Given the description of an element on the screen output the (x, y) to click on. 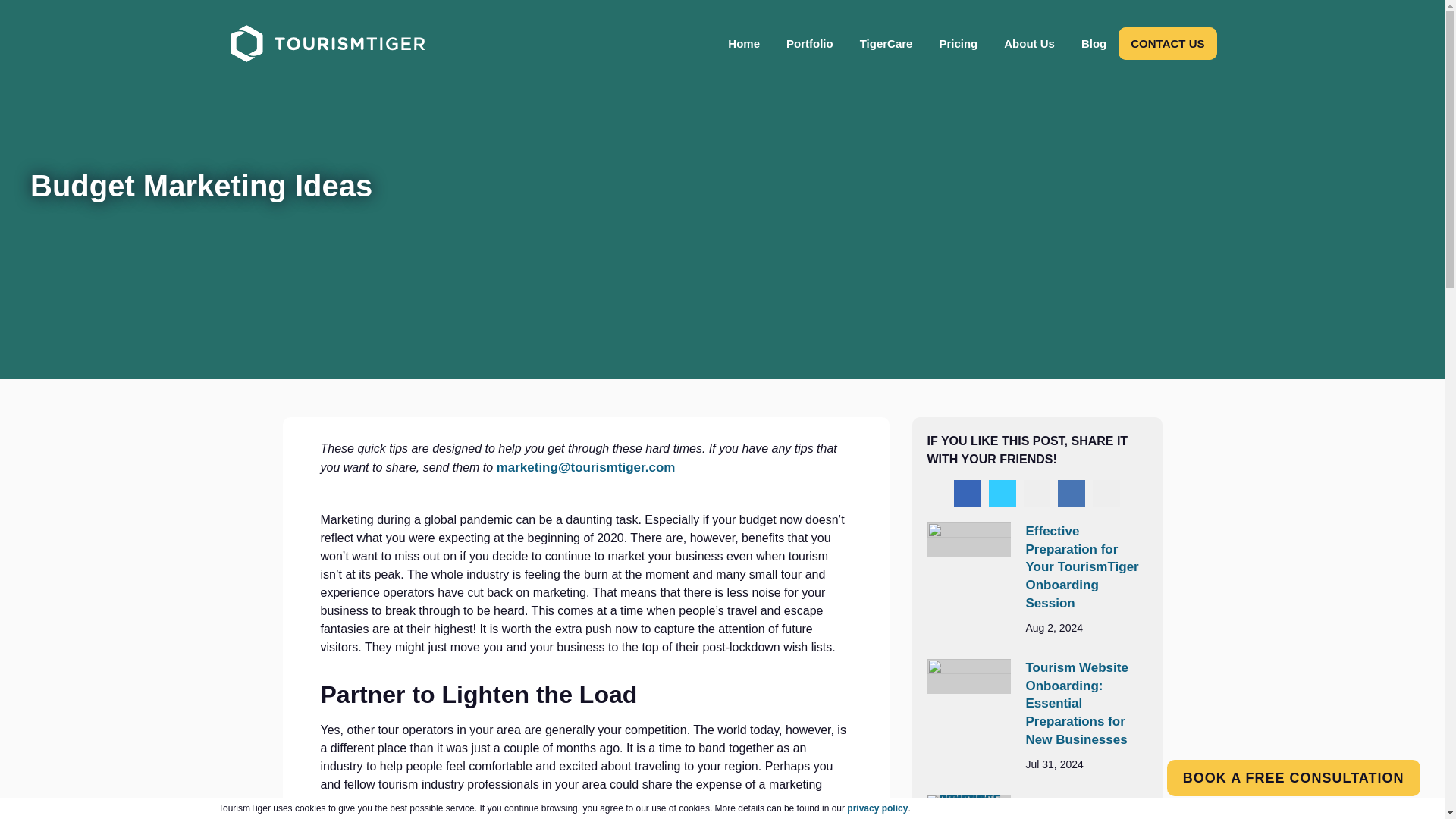
Share via instagram (1037, 492)
Visit Home page (326, 43)
Share via twitter (1002, 492)
CONTACT US (1166, 43)
Blog (1093, 43)
Share via facebook (967, 492)
TigerCare (885, 43)
Share via google (1106, 492)
Pricing (958, 43)
